Given the description of an element on the screen output the (x, y) to click on. 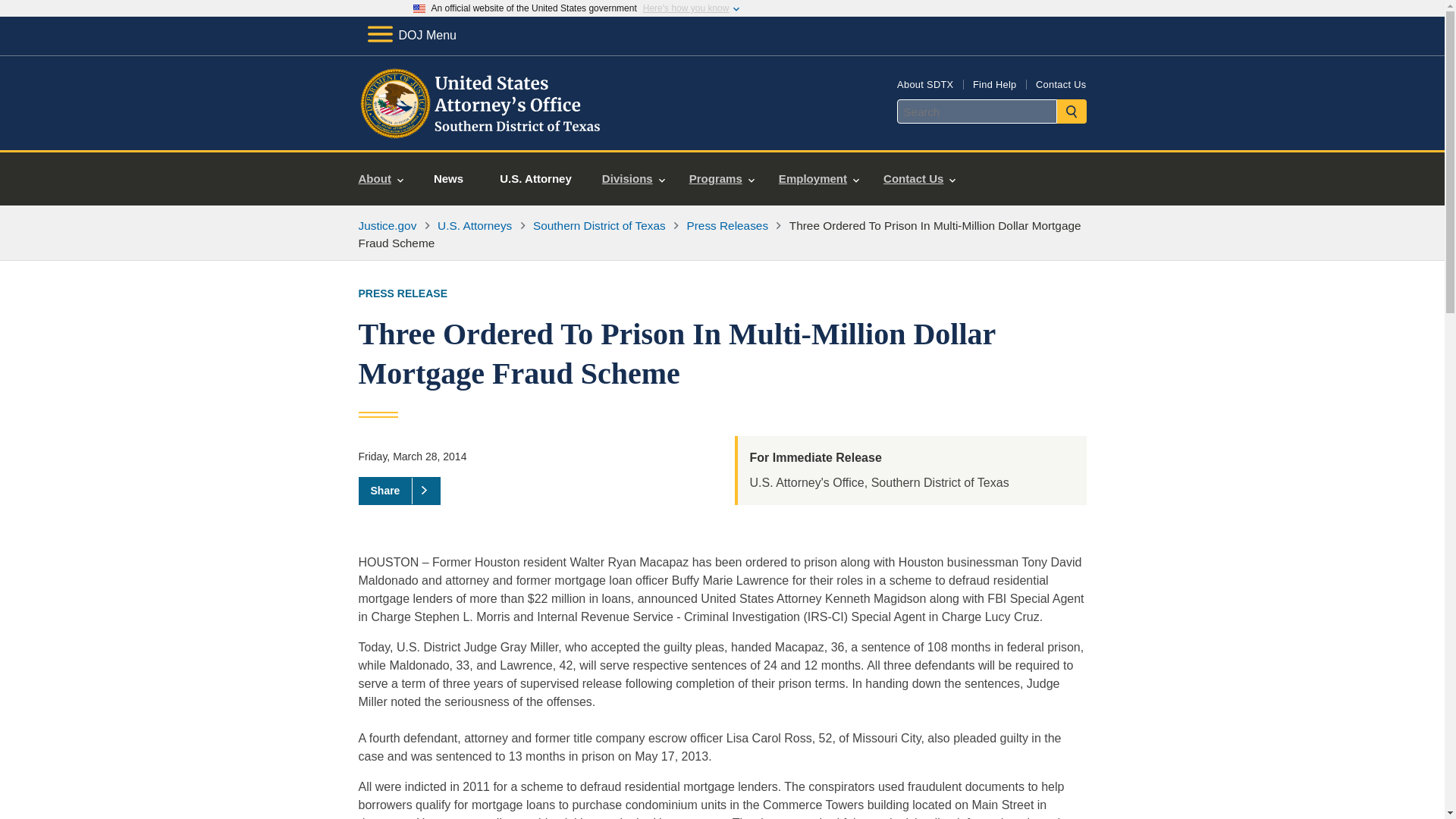
Contact Us (1060, 84)
Southern District of Texas (598, 225)
Press Releases (727, 225)
About SDTX (924, 84)
Contact Us (919, 179)
Employment (818, 179)
U.S. Attorneys (475, 225)
Programs (722, 179)
U.S. Attorney (535, 179)
Home (481, 132)
